Given the description of an element on the screen output the (x, y) to click on. 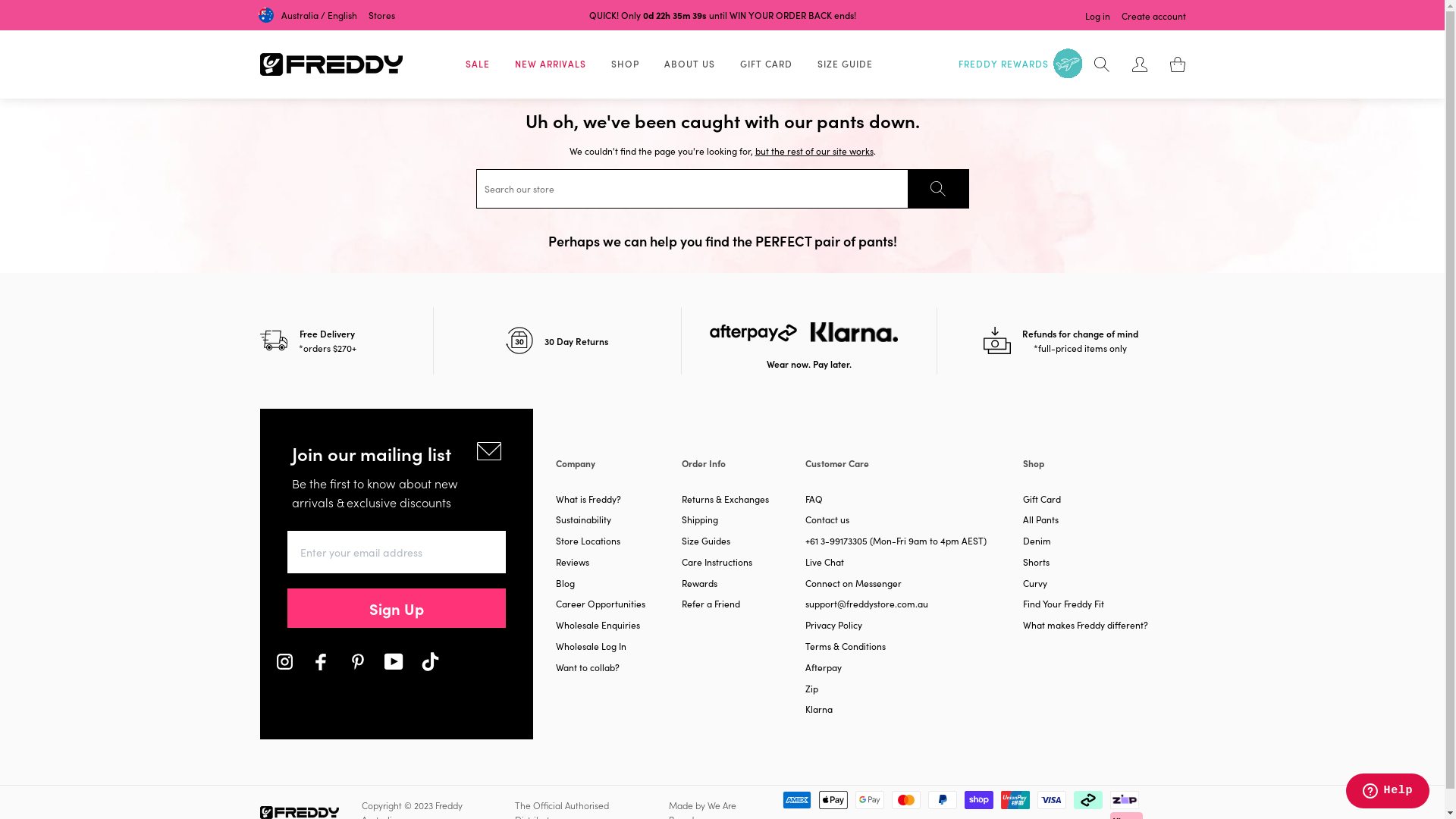
Store Locations Element type: text (587, 541)
Reviews Element type: text (571, 562)
Submit Element type: text (24, 8)
Rewards Element type: text (699, 583)
Privacy Policy Element type: text (833, 625)
Klarna Element type: text (818, 709)
Gift Card Element type: text (1041, 498)
FREDDY REWARDS Element type: text (1022, 64)
Terms & Conditions Element type: text (845, 646)
ABOUT US Element type: text (689, 64)
Australia / English Element type: text (307, 14)
Free Delivery
*orders $270+ Element type: text (346, 340)
Size Guides Element type: text (705, 541)
Opens a widget where you can chat to one of our agents Element type: hover (1387, 792)
Shipping Element type: text (699, 519)
Find Your Freddy Fit Element type: text (1063, 604)
support@freddystore.com.au Element type: text (866, 604)
Log in Element type: text (1097, 15)
Live Chat Element type: text (824, 562)
Shorts Element type: text (1035, 562)
Contact us Element type: text (827, 519)
NEW ARRIVALS Element type: text (549, 64)
QUICK! Only 0d 22h 35m 59s until WIN YOUR ORDER BACK ends! Element type: text (722, 14)
Career Opportunities Element type: text (599, 604)
Customer Care Element type: text (913, 473)
All Pants Element type: text (1040, 519)
+61 3-99173305 (Mon-Fri 9am to 4pm AEST) Element type: text (895, 541)
What is Freddy? Element type: text (587, 498)
Wear now. Pay later. Element type: text (809, 340)
Afterpay Element type: text (823, 667)
Zip Element type: text (811, 688)
Returns & Exchanges Element type: text (724, 498)
Wholesale Log In Element type: text (590, 646)
Care Instructions Element type: text (716, 562)
30 Day Returns Element type: text (557, 340)
Shop Element type: text (1103, 473)
What makes Freddy different? Element type: text (1085, 625)
FAQ Element type: text (813, 498)
Create account Element type: text (1153, 15)
SIZE GUIDE Element type: text (844, 64)
Refer a Friend Element type: text (710, 604)
but the rest of our site works Element type: text (814, 150)
Connect on Messenger Element type: text (853, 583)
Sign Up Element type: text (395, 607)
Stores Element type: text (381, 15)
Denim Element type: text (1036, 541)
Curvy Element type: text (1034, 583)
Wholesale Enquiries Element type: text (597, 625)
Company Element type: text (617, 473)
Blog Element type: text (564, 583)
GIFT CARD Element type: text (766, 64)
SALE Element type: text (477, 64)
Refunds for change of mind
*full-priced items only Element type: text (1060, 340)
Order Info Element type: text (743, 473)
SEARCH Element type: text (936, 188)
Sustainability Element type: text (582, 519)
SHOP Element type: text (625, 64)
Want to collab? Element type: text (586, 667)
